Given the description of an element on the screen output the (x, y) to click on. 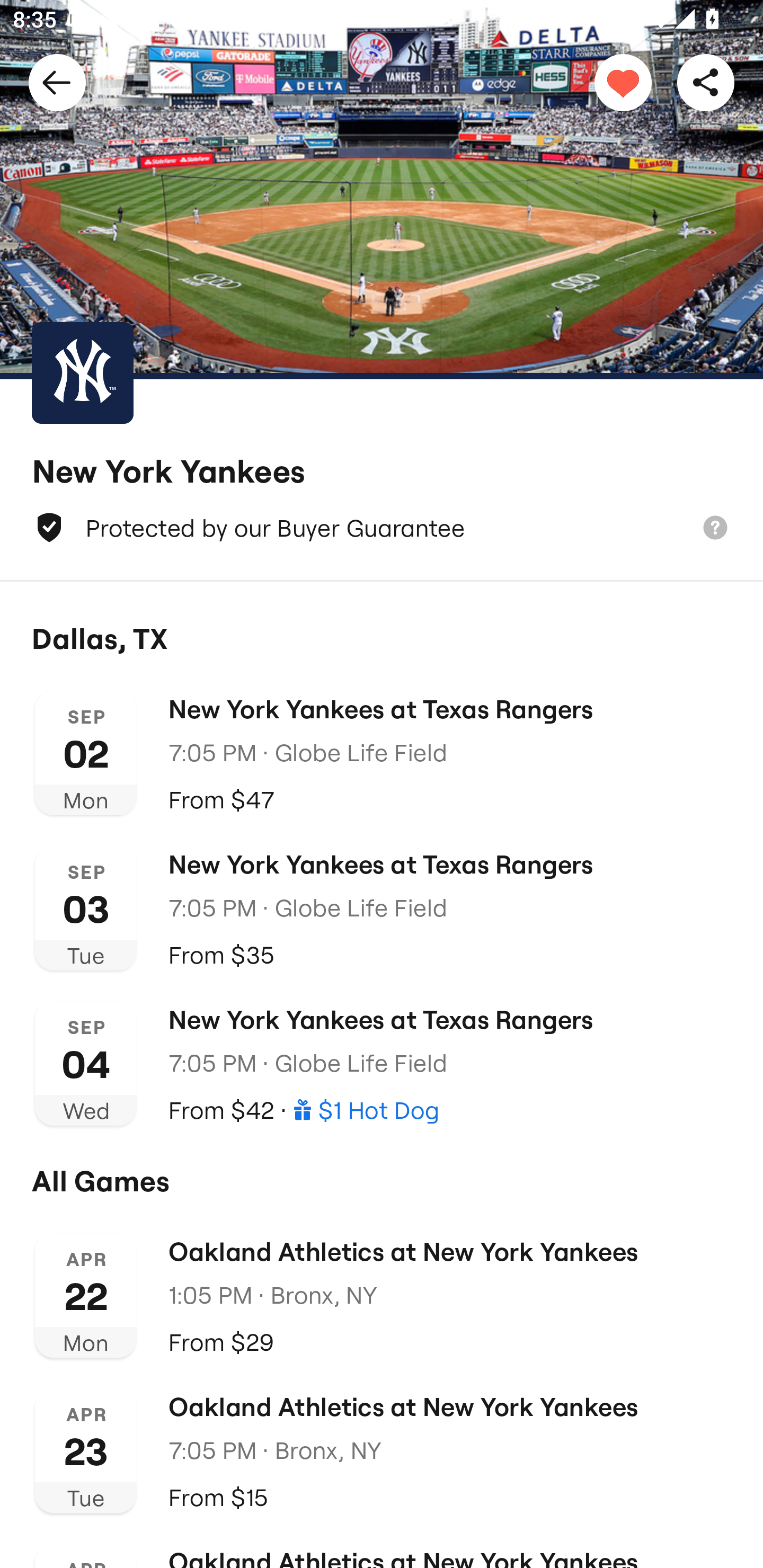
Back (57, 81)
Track this performer (623, 81)
Share this performer (705, 81)
Protected by our Buyer Guarantee Learn more (381, 527)
